Given the description of an element on the screen output the (x, y) to click on. 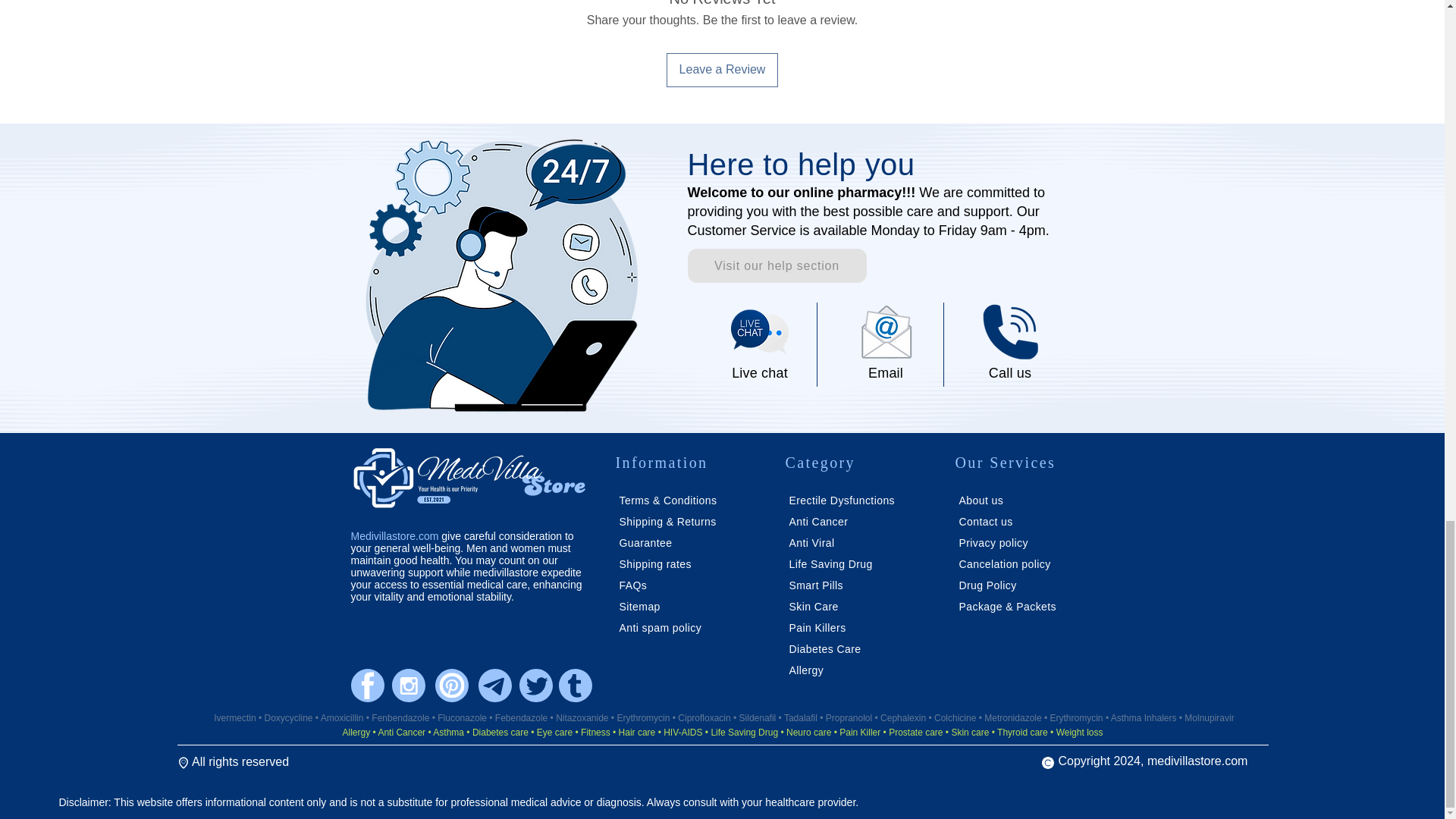
Visit our help section (776, 265)
Guarantee (644, 542)
FAQs  (633, 585)
Leave a Review (722, 69)
Anti Viral (811, 542)
Anti Cancer (818, 521)
Life Saving Drug (830, 563)
Medivillastore.com (394, 535)
Pain Killers (817, 627)
Diabetes Care (824, 648)
Skin Care (813, 606)
Sitemap (638, 606)
Anti spam policy (659, 627)
Erectile Dysfunctions (842, 500)
Shipping rates (654, 563)
